Given the description of an element on the screen output the (x, y) to click on. 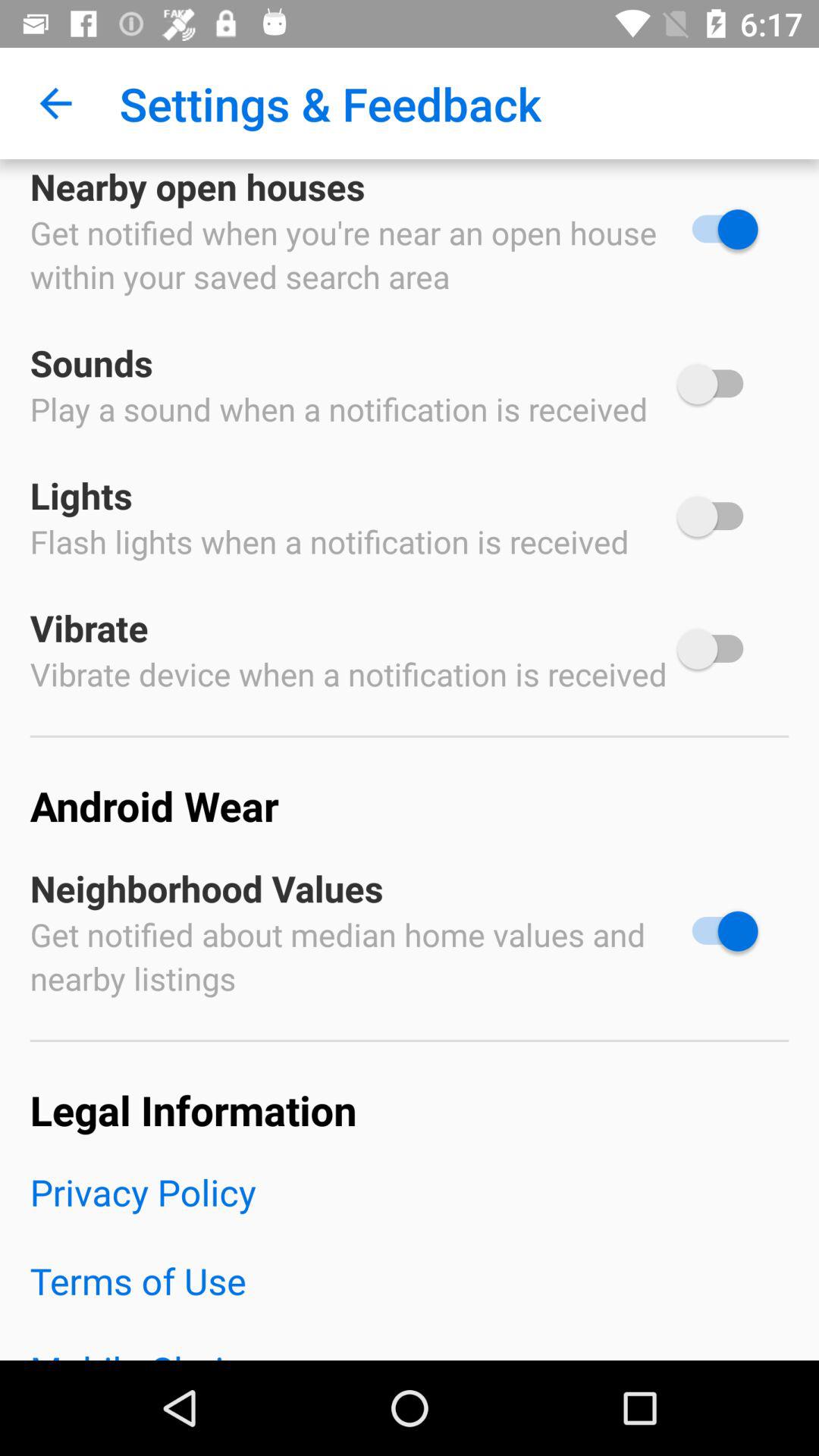
deactivate this (717, 931)
